Given the description of an element on the screen output the (x, y) to click on. 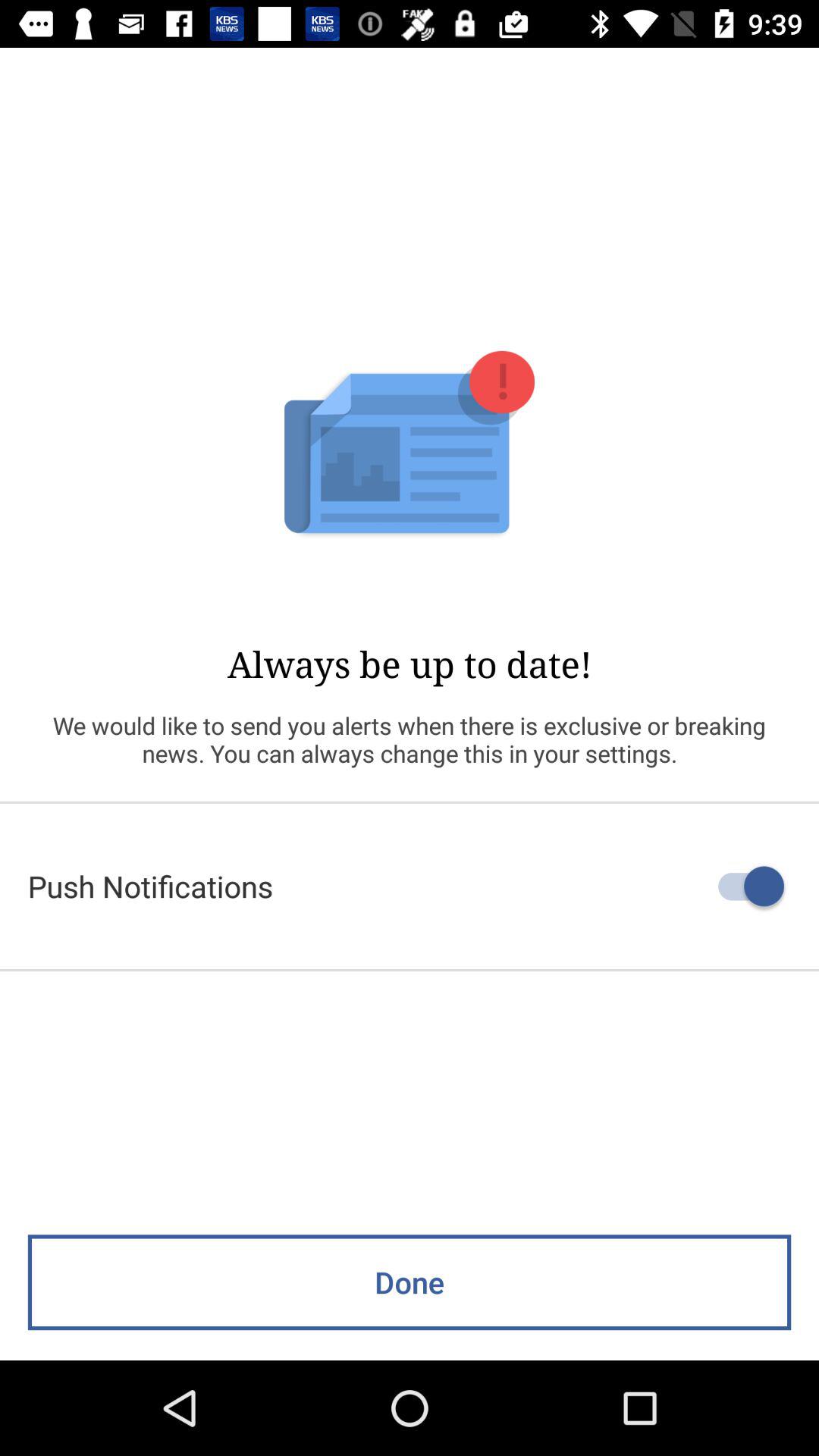
choose done icon (409, 1282)
